Given the description of an element on the screen output the (x, y) to click on. 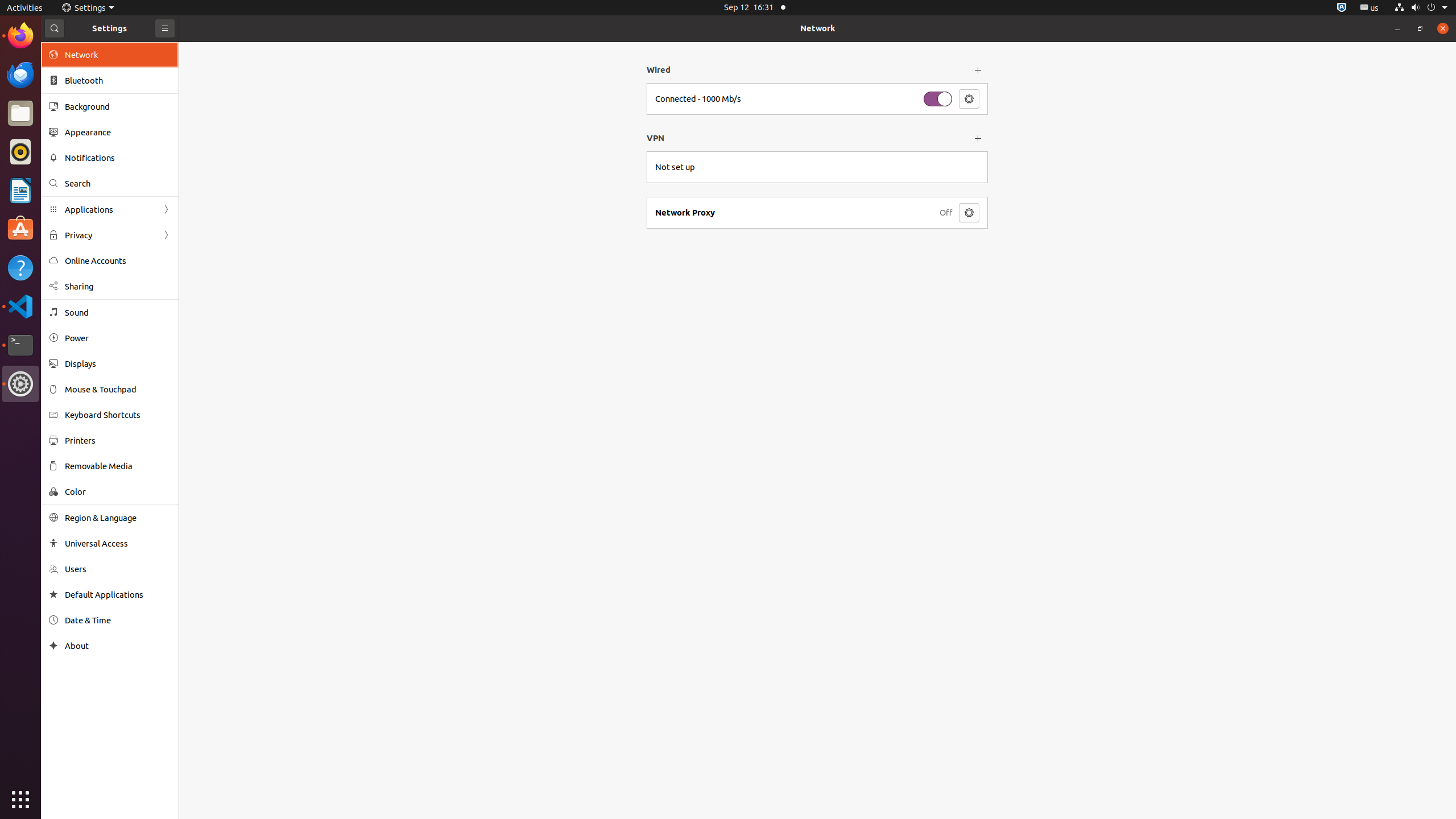
Search Element type: label (117, 183)
Power Element type: label (117, 337)
Mouse & Touchpad Element type: label (117, 389)
Date & Time Element type: label (117, 620)
